Given the description of an element on the screen output the (x, y) to click on. 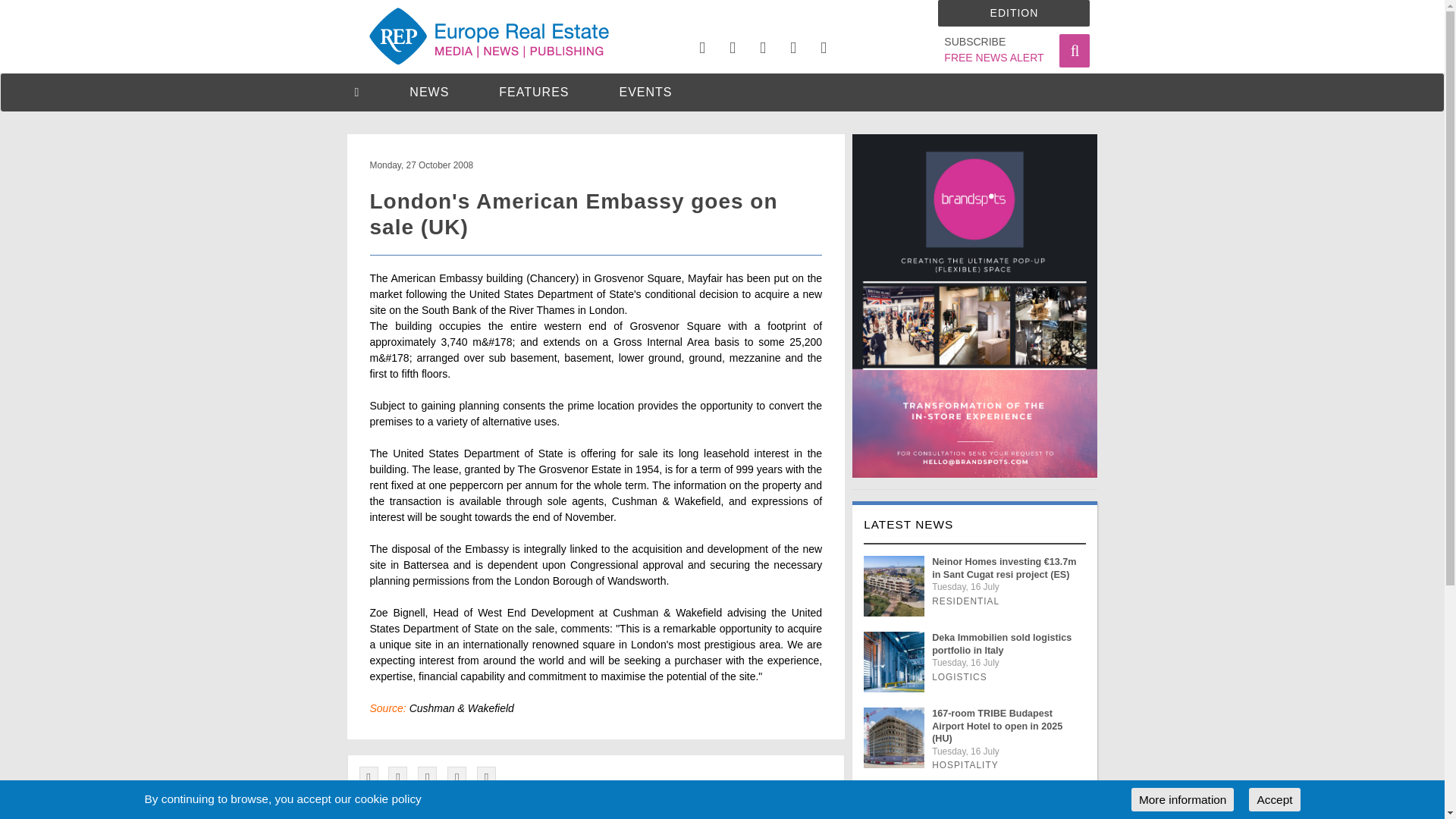
NEWS (428, 91)
EDITION (993, 49)
FEATURES (1013, 13)
